Given the description of an element on the screen output the (x, y) to click on. 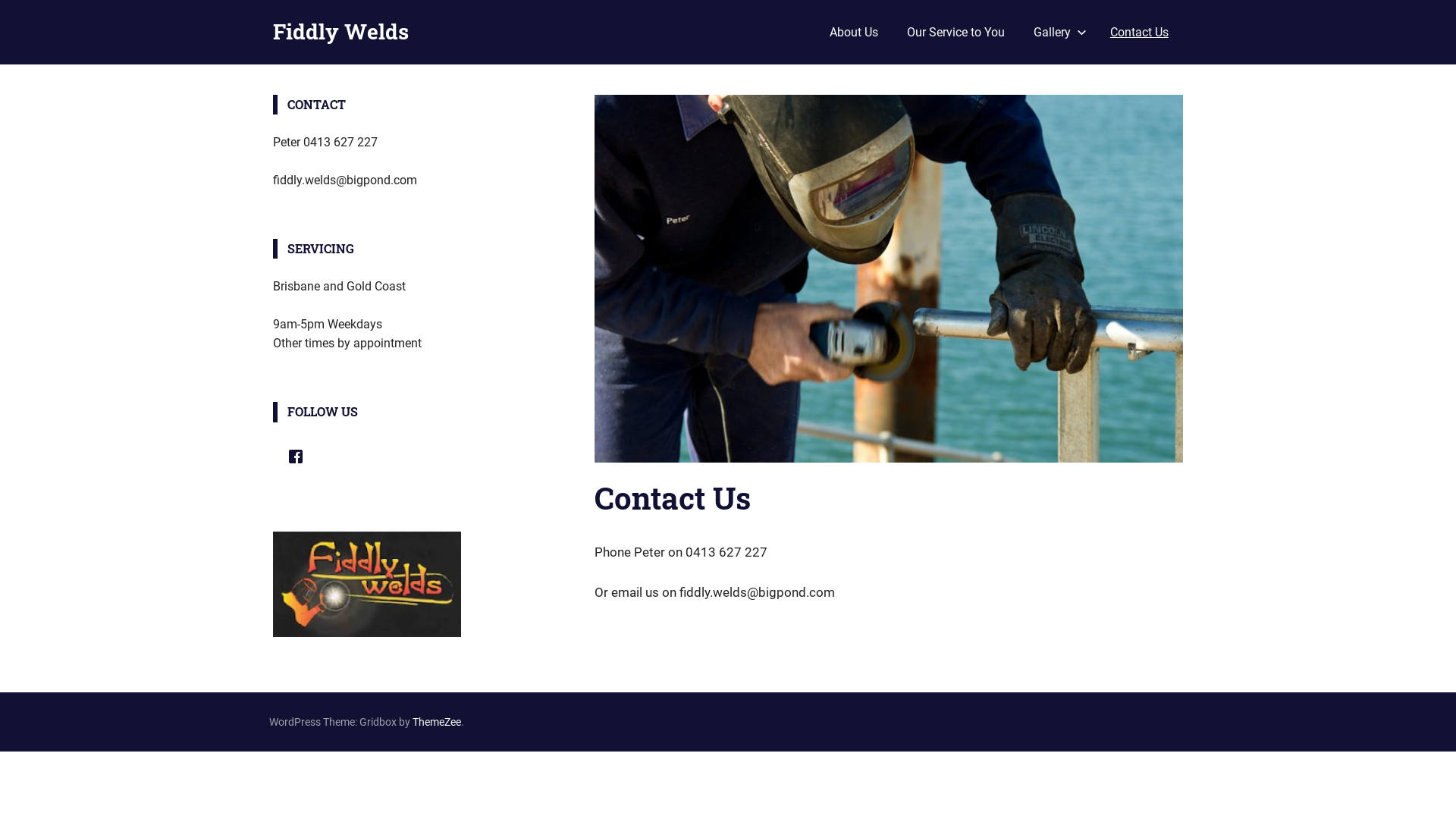
Our Service to You Element type: text (955, 32)
Skip to content Element type: text (0, 0)
About Us Element type: text (852, 32)
Gallery Element type: text (1057, 32)
Fiddly Welds Element type: text (340, 31)
Contact Us Element type: text (1139, 32)
ThemeZee Element type: text (436, 721)
